Given the description of an element on the screen output the (x, y) to click on. 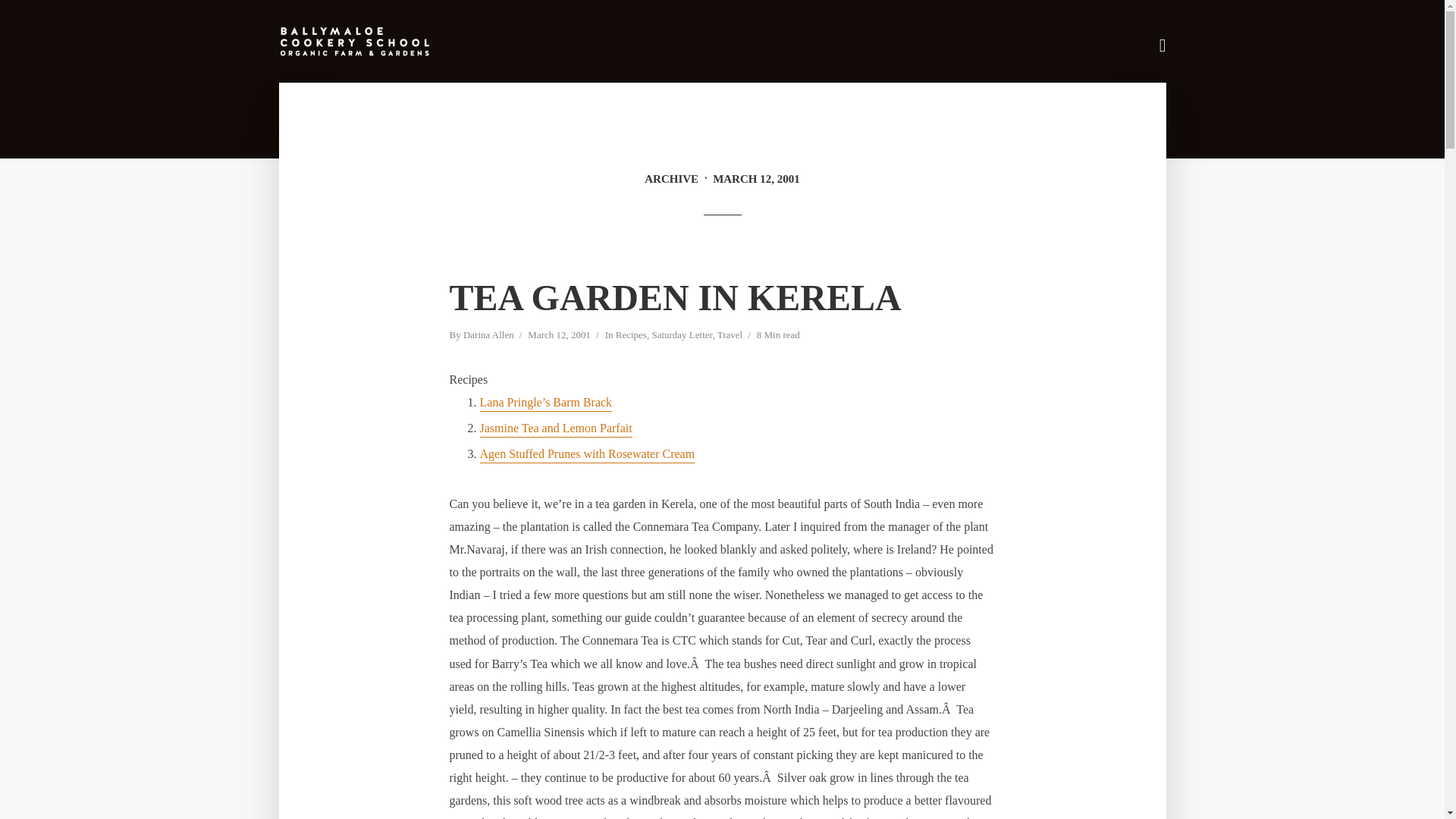
Darina Allen (488, 336)
Recipes (630, 336)
Agen Stuffed Prunes with Rosewater Cream (586, 455)
TEA GARDEN IN KERELA (674, 297)
Saturday Letter (680, 336)
Jasmine Tea and Lemon Parfait (555, 429)
Travel (729, 336)
